Given the description of an element on the screen output the (x, y) to click on. 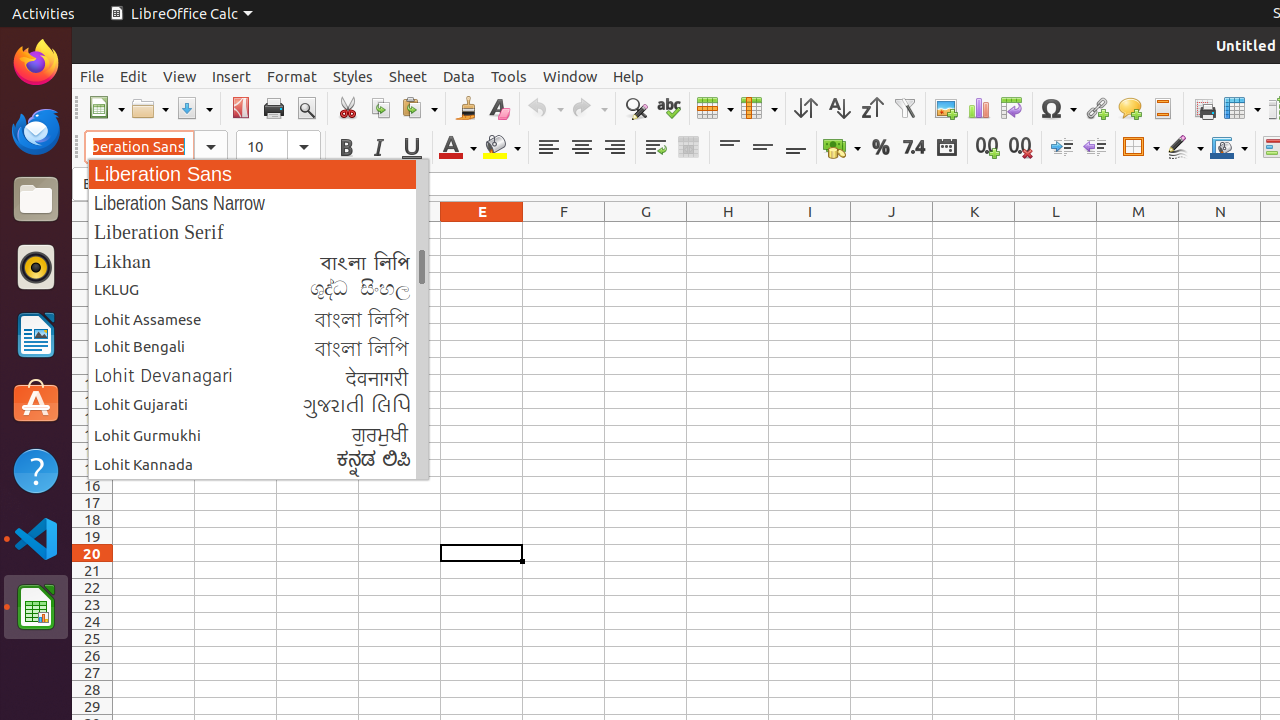
File Element type: menu (92, 76)
Clear Element type: push-button (498, 108)
Print Area Element type: push-button (1203, 108)
K1 Element type: table-cell (974, 230)
Chart Element type: push-button (978, 108)
